Given the description of an element on the screen output the (x, y) to click on. 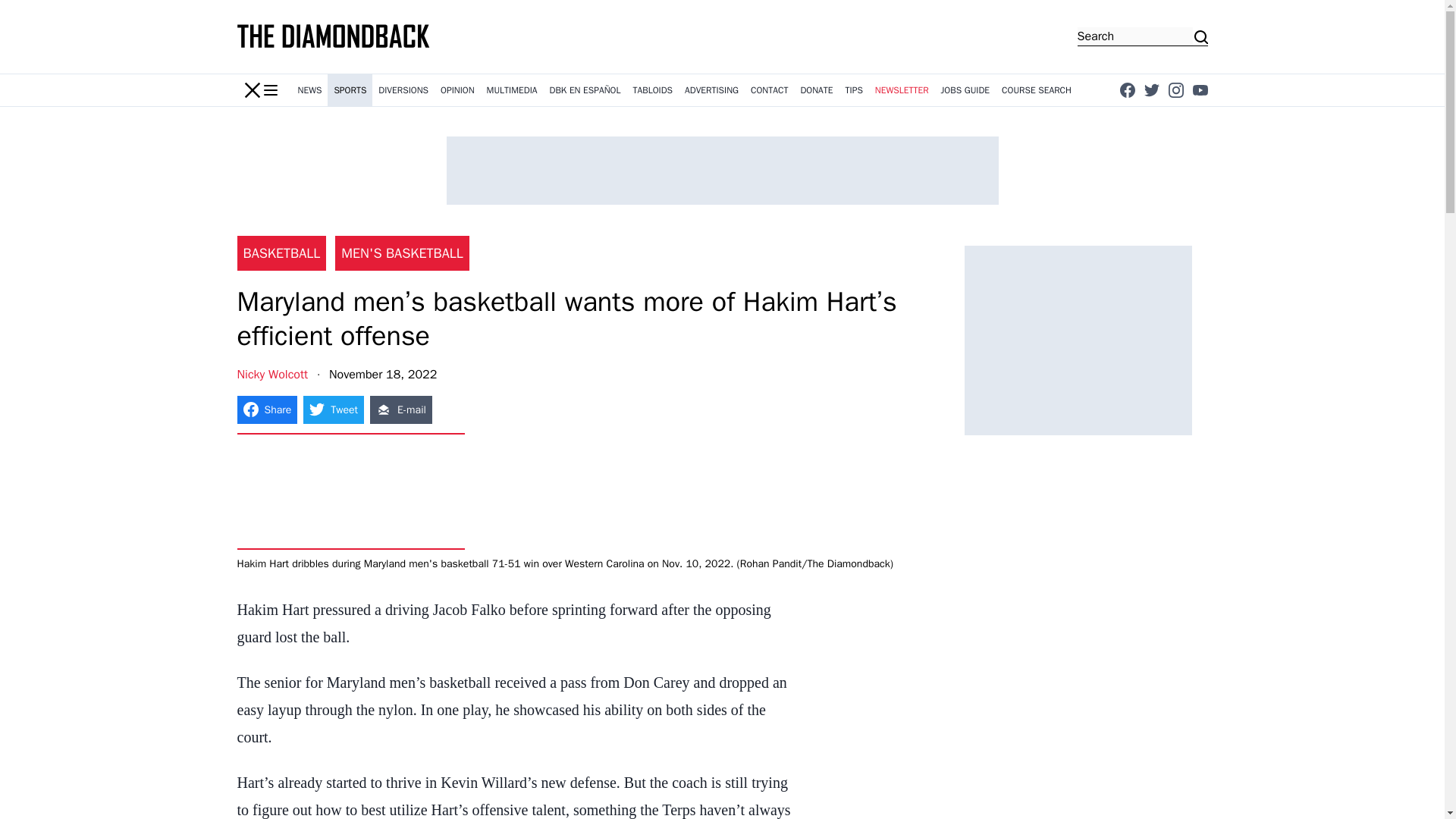
NEWSLETTER (901, 90)
DONATE (815, 90)
Contact (768, 90)
Tips (854, 90)
Donate (815, 90)
NEWS (309, 90)
News (309, 90)
Tabloids (652, 90)
TIPS (854, 90)
Multimedia (511, 90)
Jobs Guide (964, 90)
Opinion (456, 90)
CONTACT (768, 90)
SPORTS (349, 90)
COURSE SEARCH (1036, 90)
